Given the description of an element on the screen output the (x, y) to click on. 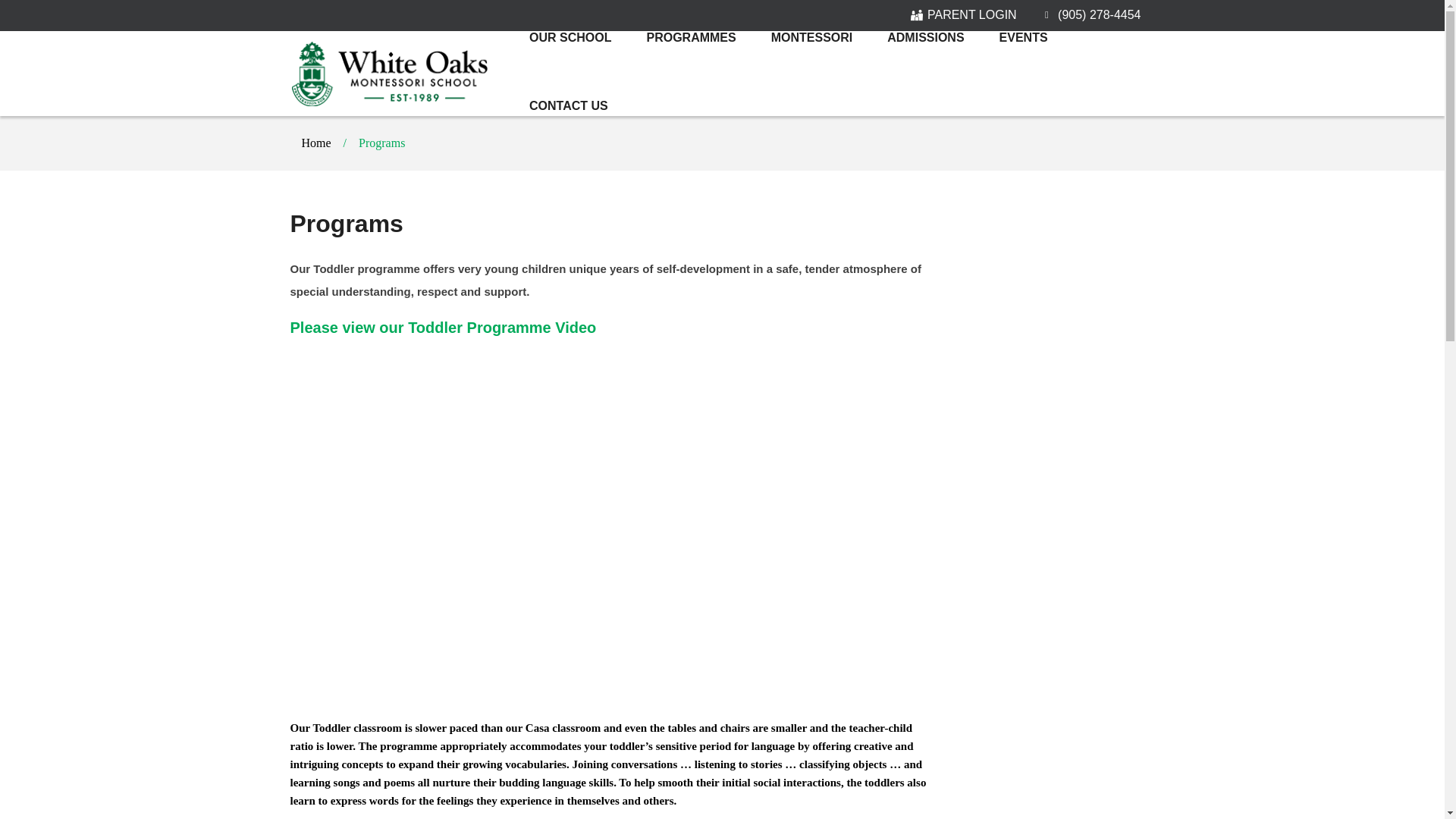
OUR SCHOOL (570, 38)
PROGRAMMES (690, 38)
PARENT LOGIN (963, 15)
